Given the description of an element on the screen output the (x, y) to click on. 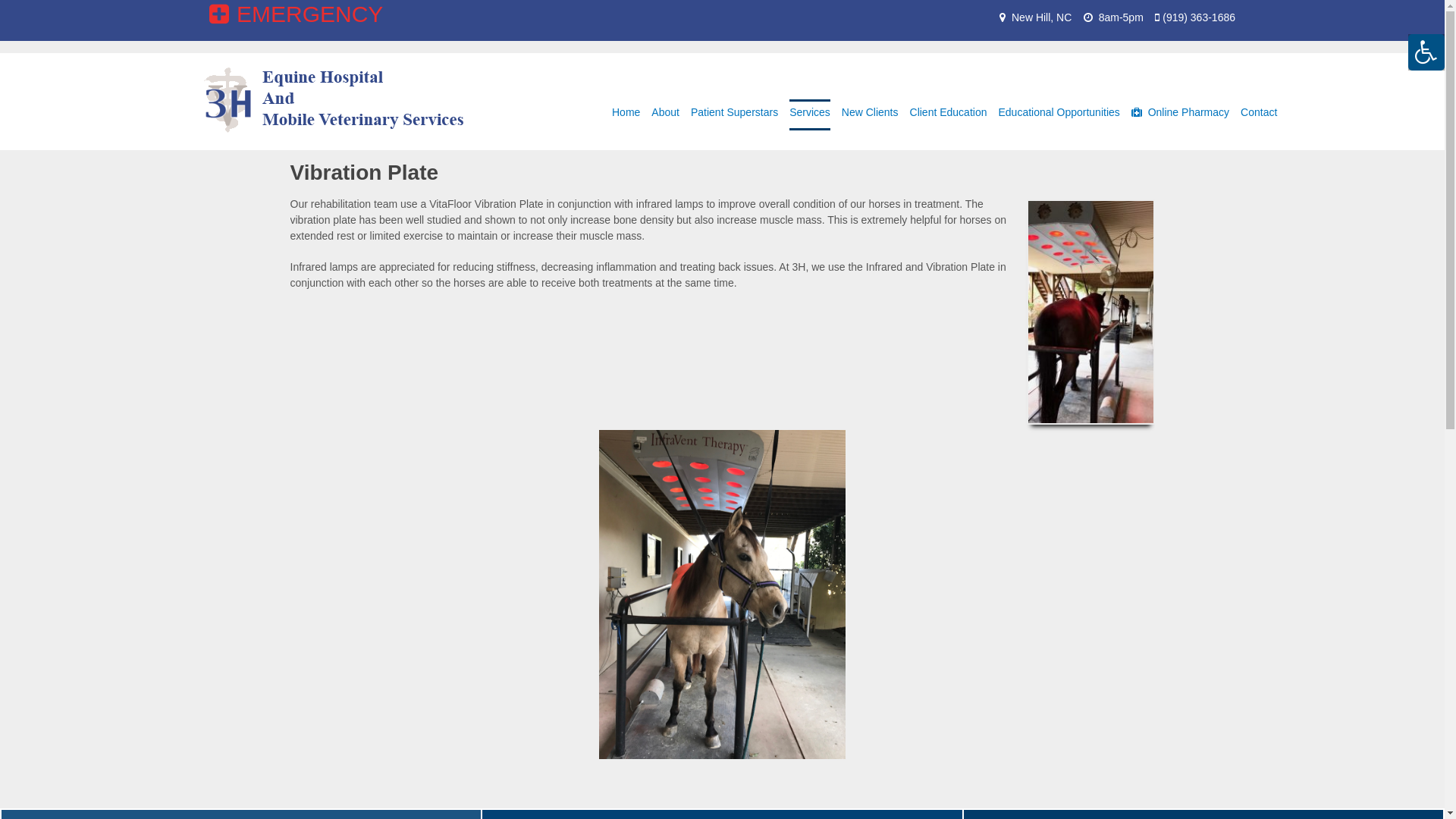
New Clients Element type: text (869, 118)
Client Education Element type: text (948, 118)
Contact Element type: text (1258, 118)
Services Element type: text (809, 118)
(919) 363-1686 Element type: text (1198, 17)
Accessibility Helper sidebar Element type: hover (1426, 52)
About Element type: text (665, 118)
Home Element type: text (625, 118)
EMERGENCY Element type: text (295, 13)
Patient Superstars Element type: text (734, 118)
Online Pharmacy Element type: text (1180, 118)
Educational Opportunities Element type: text (1058, 118)
